Given the description of an element on the screen output the (x, y) to click on. 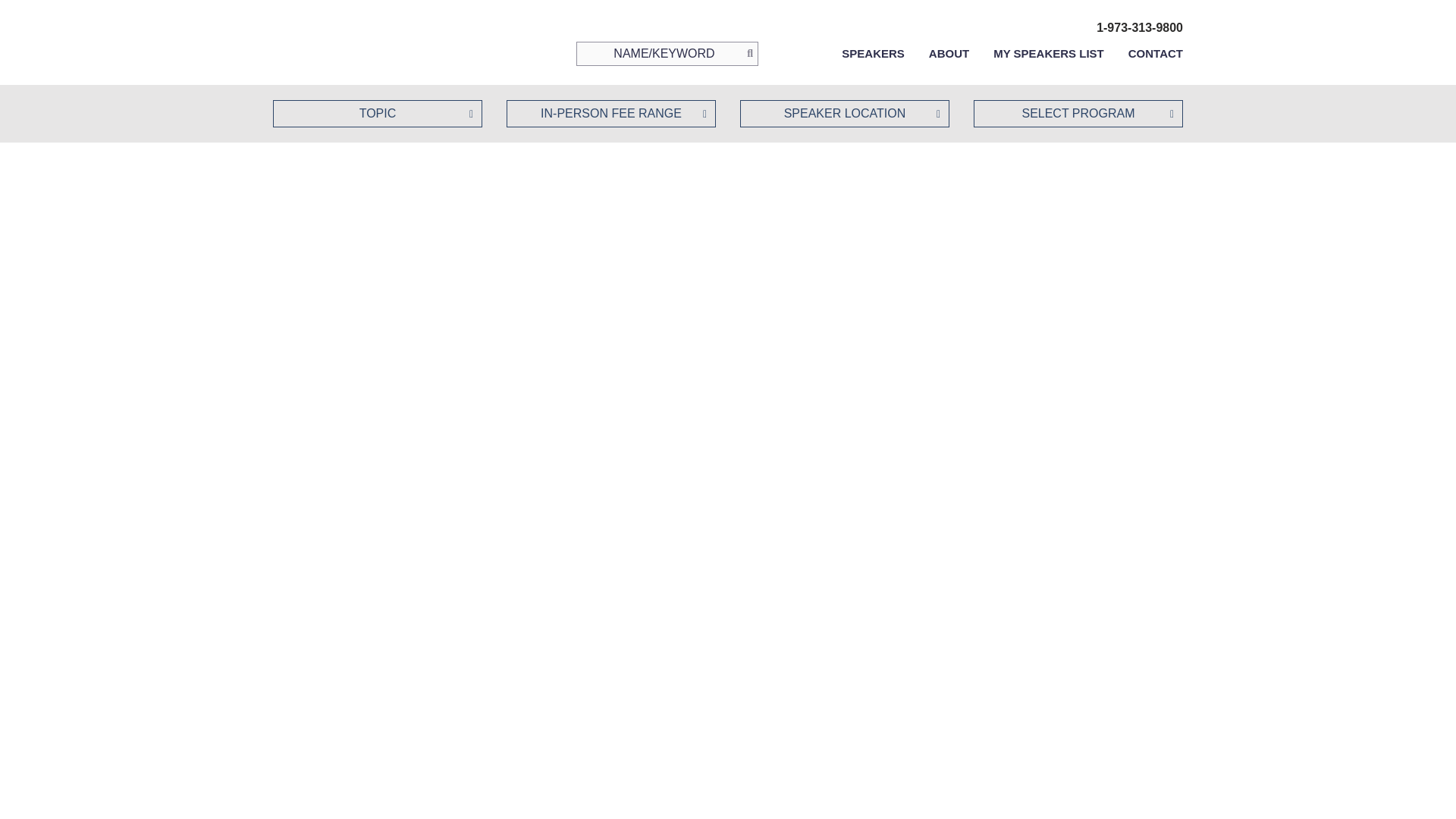
CONTACT (1155, 53)
MY SPEAKERS LIST (1047, 53)
Contact Us by Phone 1-973-313-9800 (1139, 27)
SPEAKERS (872, 53)
1-973-313-9800 (1139, 27)
ABOUT (948, 53)
